Given the description of an element on the screen output the (x, y) to click on. 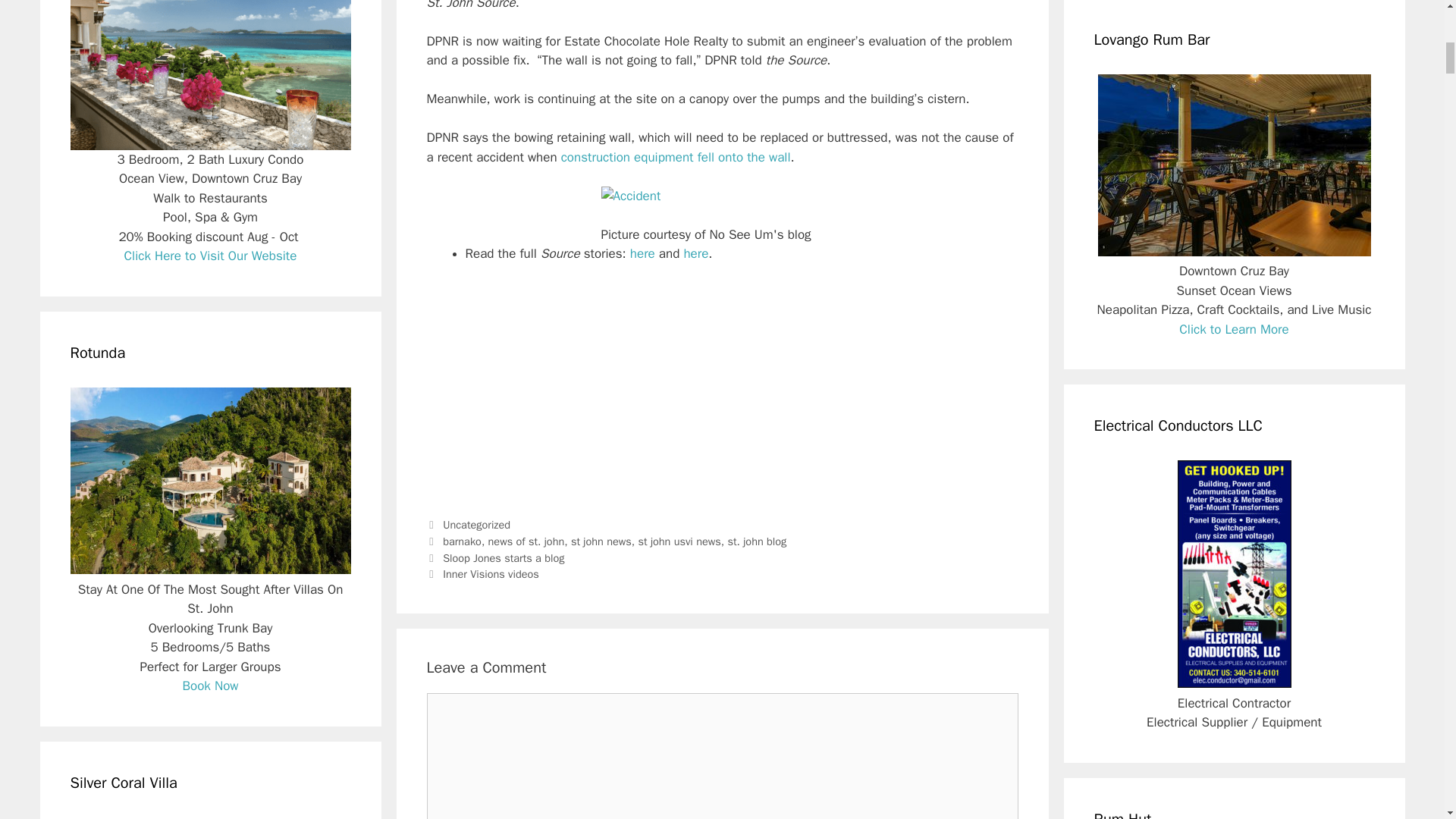
Previous (495, 558)
st john usvi news (678, 540)
barnako (461, 540)
Accident (630, 196)
here (642, 253)
Next (482, 573)
st john news (600, 540)
here (694, 253)
Advertisement (721, 388)
news of st. john (525, 540)
st. john blog (756, 540)
Uncategorized (476, 524)
construction equipment fell onto the wall (675, 157)
